Given the description of an element on the screen output the (x, y) to click on. 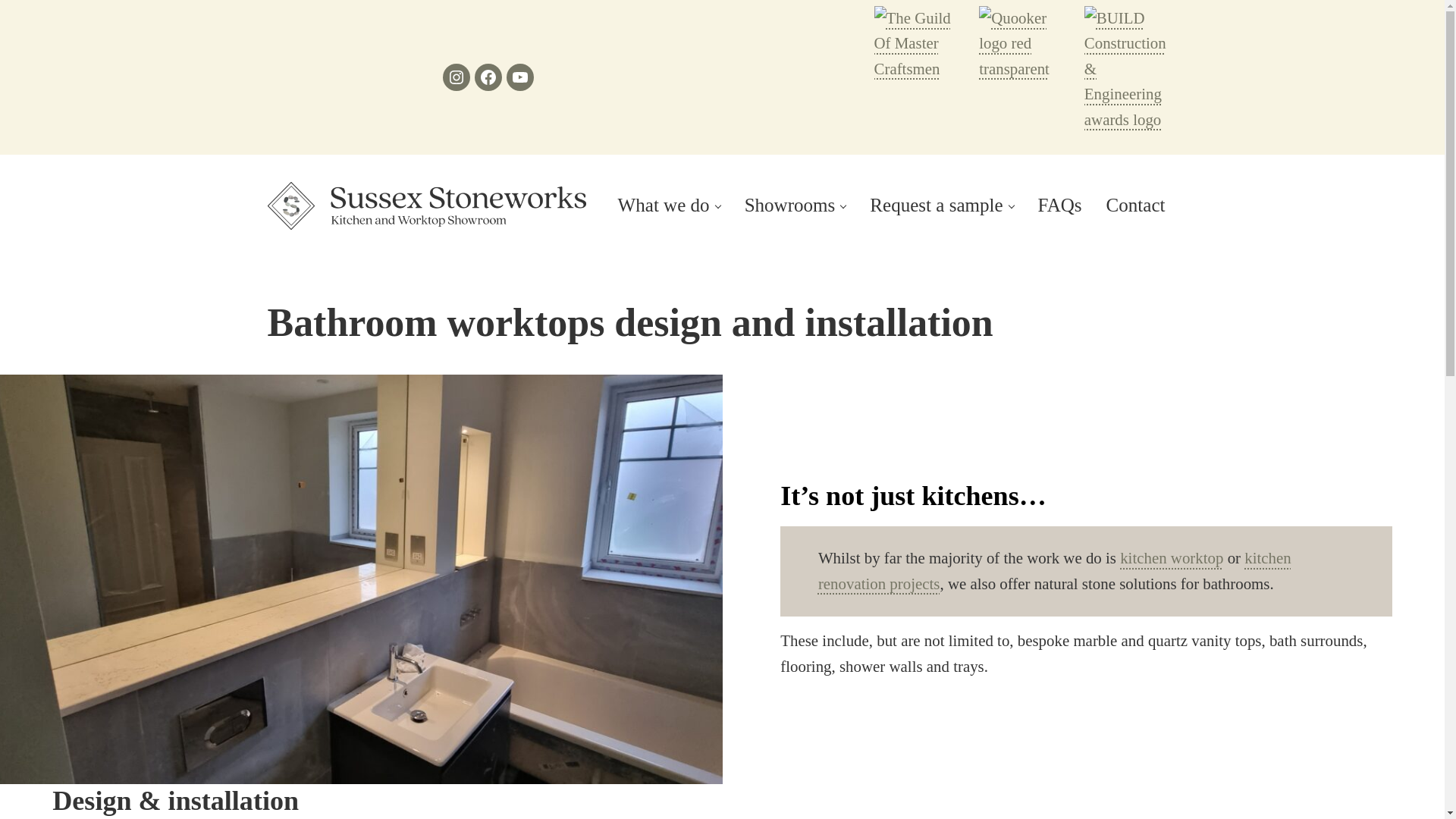
Instagram (456, 76)
kitchen worktop (1171, 557)
kitchen renovation projects (1054, 570)
Contact (1135, 205)
Quooker logo red transparent (1024, 43)
The Guild Of Master Craftsmen (921, 43)
Showrooms (795, 205)
FAQs (1060, 205)
Facebook (488, 76)
Request a sample (941, 205)
YouTube (520, 76)
What we do (668, 205)
